Given the description of an element on the screen output the (x, y) to click on. 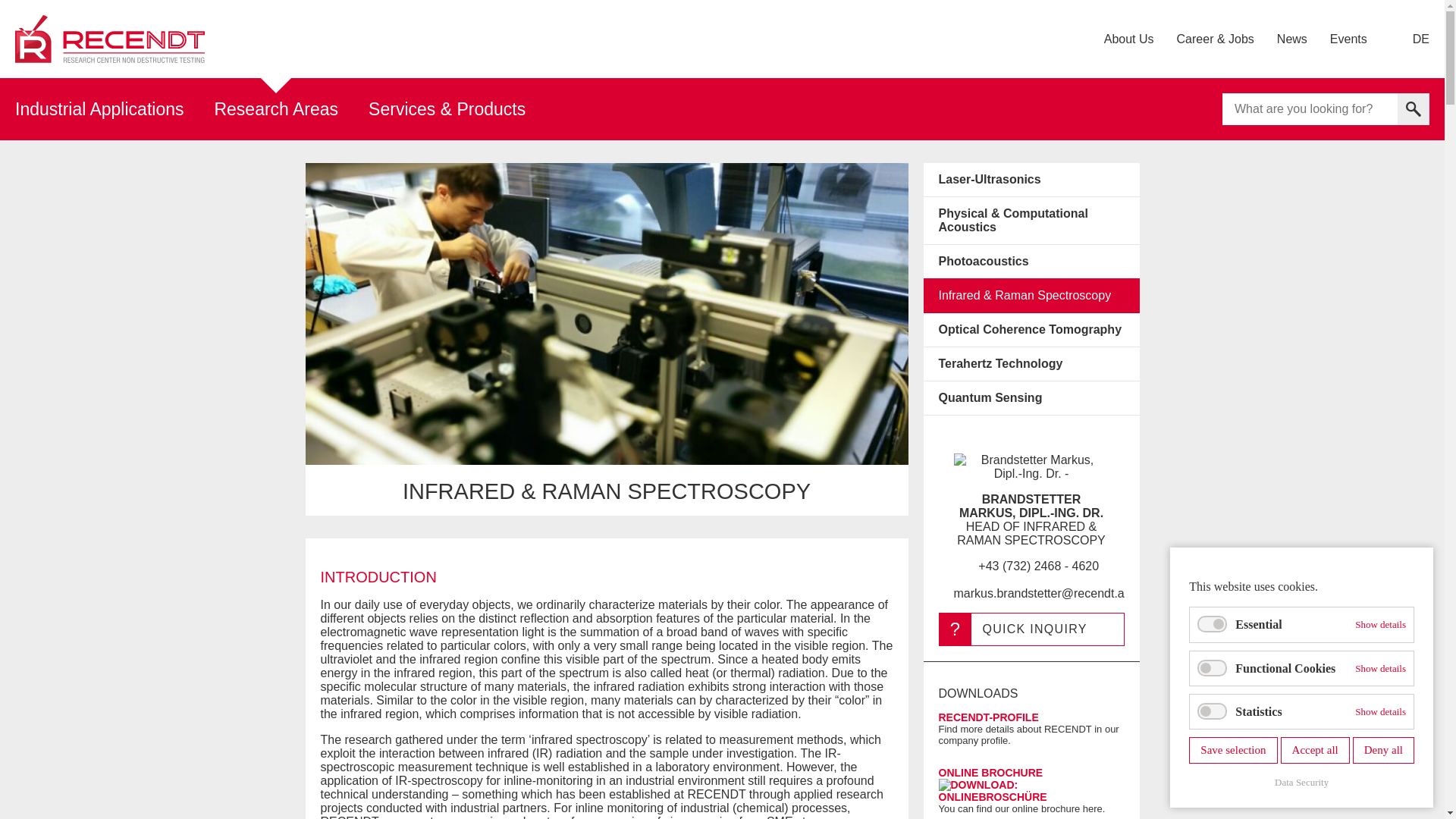
DE (1420, 38)
Events (1348, 38)
About Us (1128, 38)
News (1291, 38)
